Given the description of an element on the screen output the (x, y) to click on. 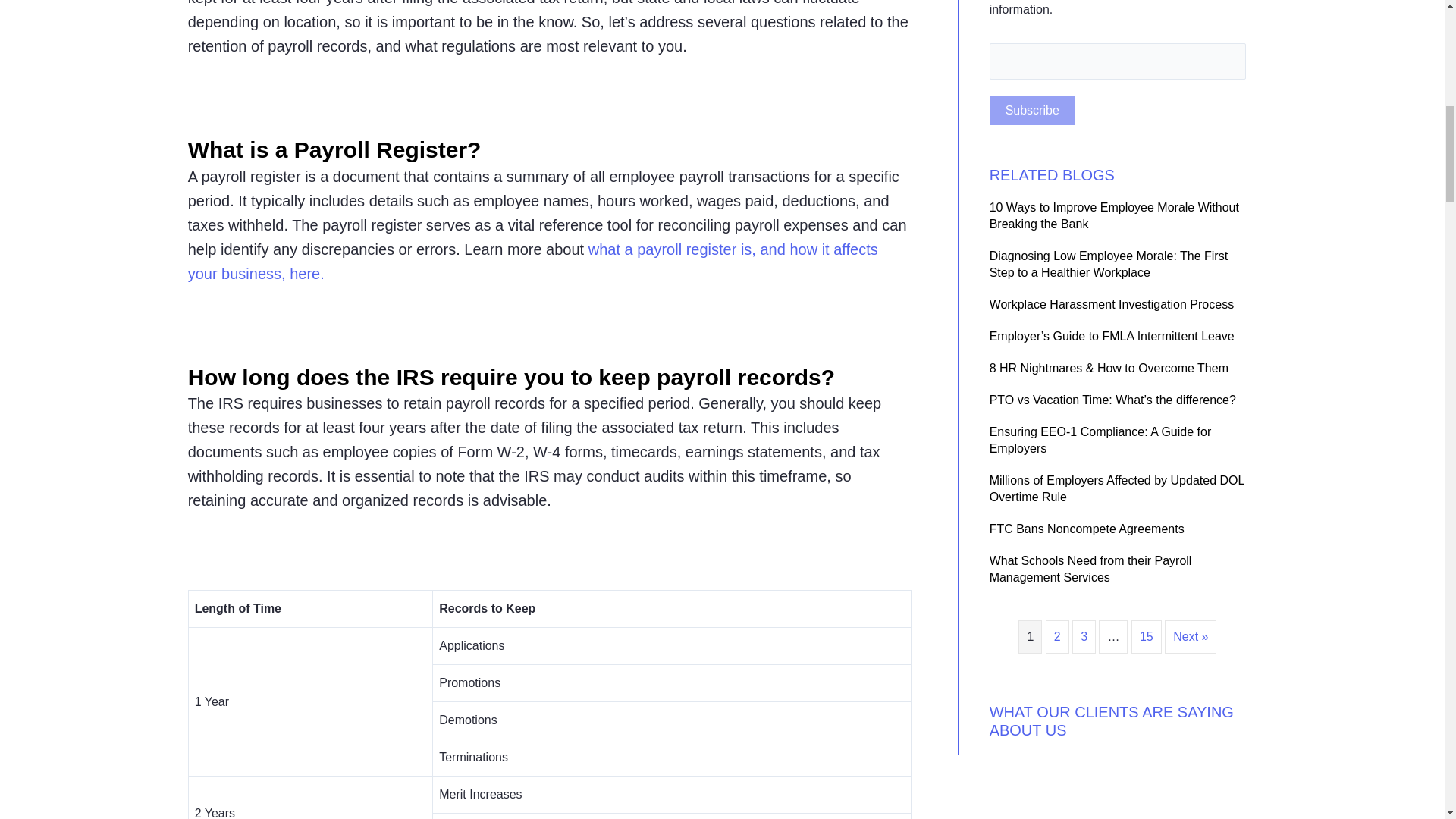
FTC Bans Noncompete Agreements (1087, 528)
What Schools Need from their Payroll Management Services (1091, 568)
Ensuring EEO-1 Compliance: A Guide for Employers (1100, 440)
10 Ways to Improve Employee Morale Without Breaking the Bank (1114, 215)
Subscribe (1032, 110)
Millions of Employers Affected by Updated DOL Overtime Rule (1117, 488)
Workplace Harassment Investigation Process (1112, 304)
